Given the description of an element on the screen output the (x, y) to click on. 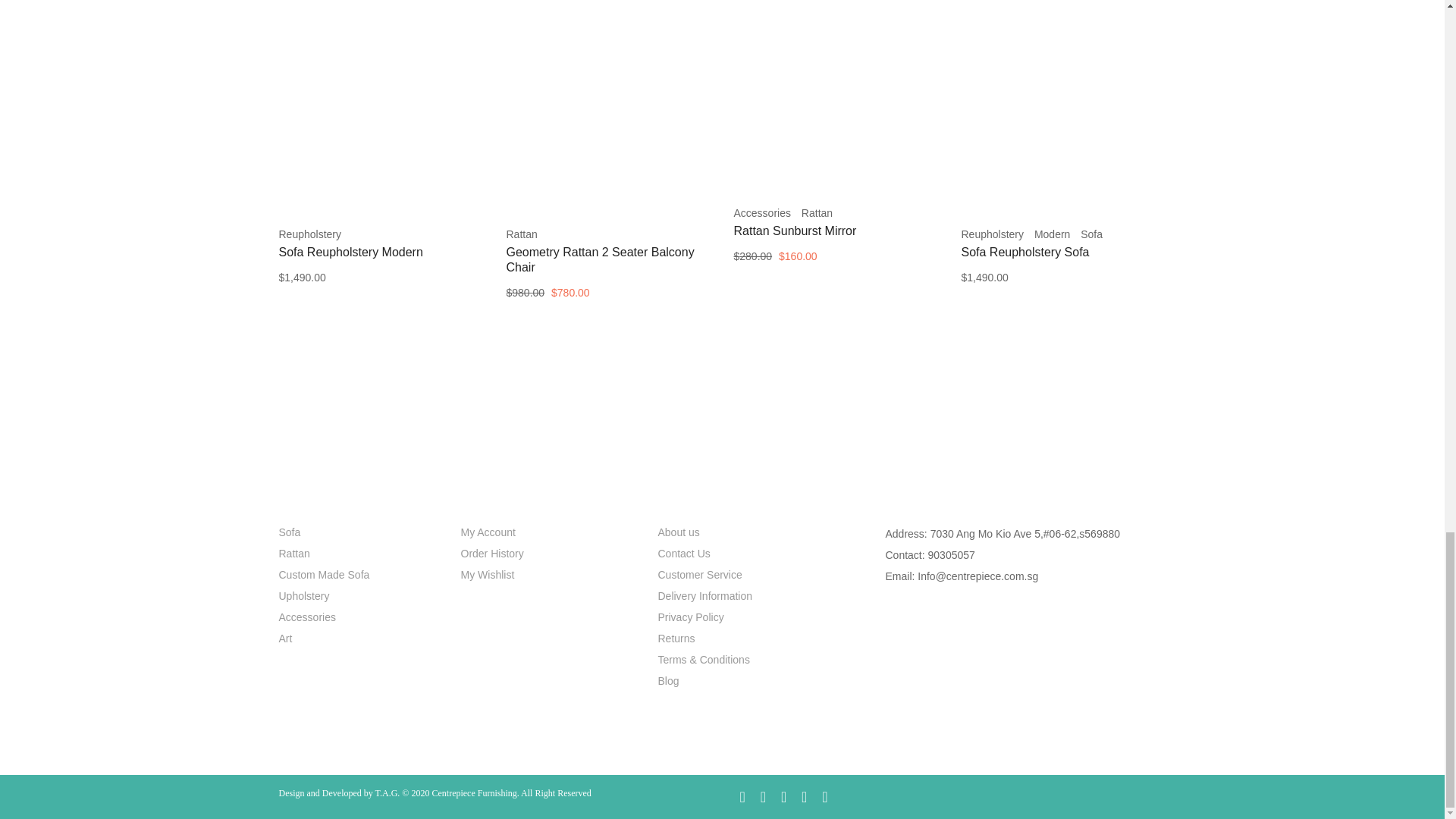
Rattan (521, 234)
Rattan (817, 213)
Reupholstery (992, 234)
Reupholstery (310, 234)
Accessories (761, 213)
Sofa (1091, 234)
Modern (1051, 234)
